Given the description of an element on the screen output the (x, y) to click on. 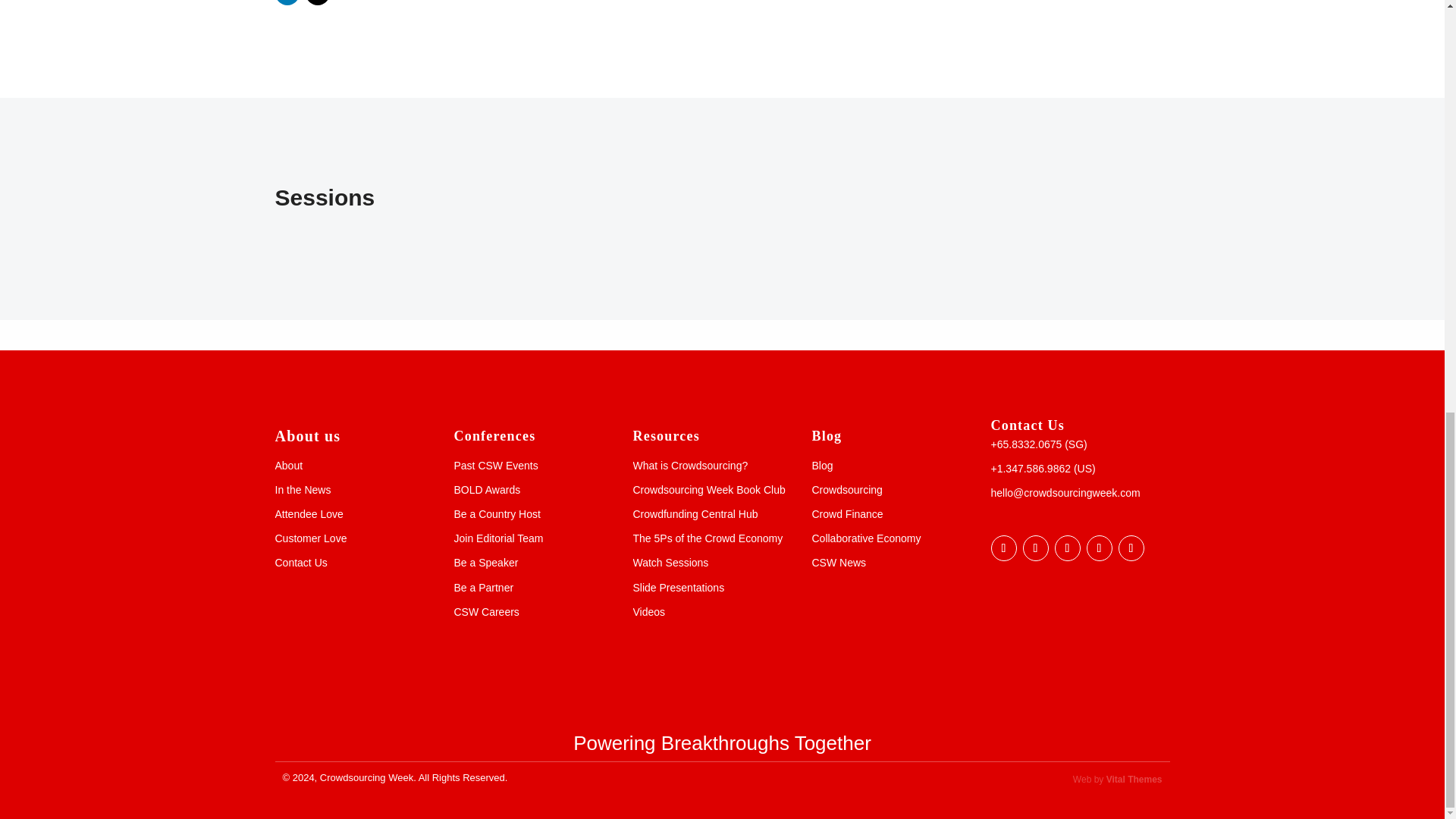
Follow on Facebook (1003, 548)
Past CSW Events (494, 465)
Attendee Love (308, 513)
In the News (302, 490)
Join Editorial Team (497, 538)
BOLD Awards (485, 490)
About (288, 465)
Contact Us (300, 562)
Follow on Twitter (316, 2)
Customer Love (310, 538)
